Given the description of an element on the screen output the (x, y) to click on. 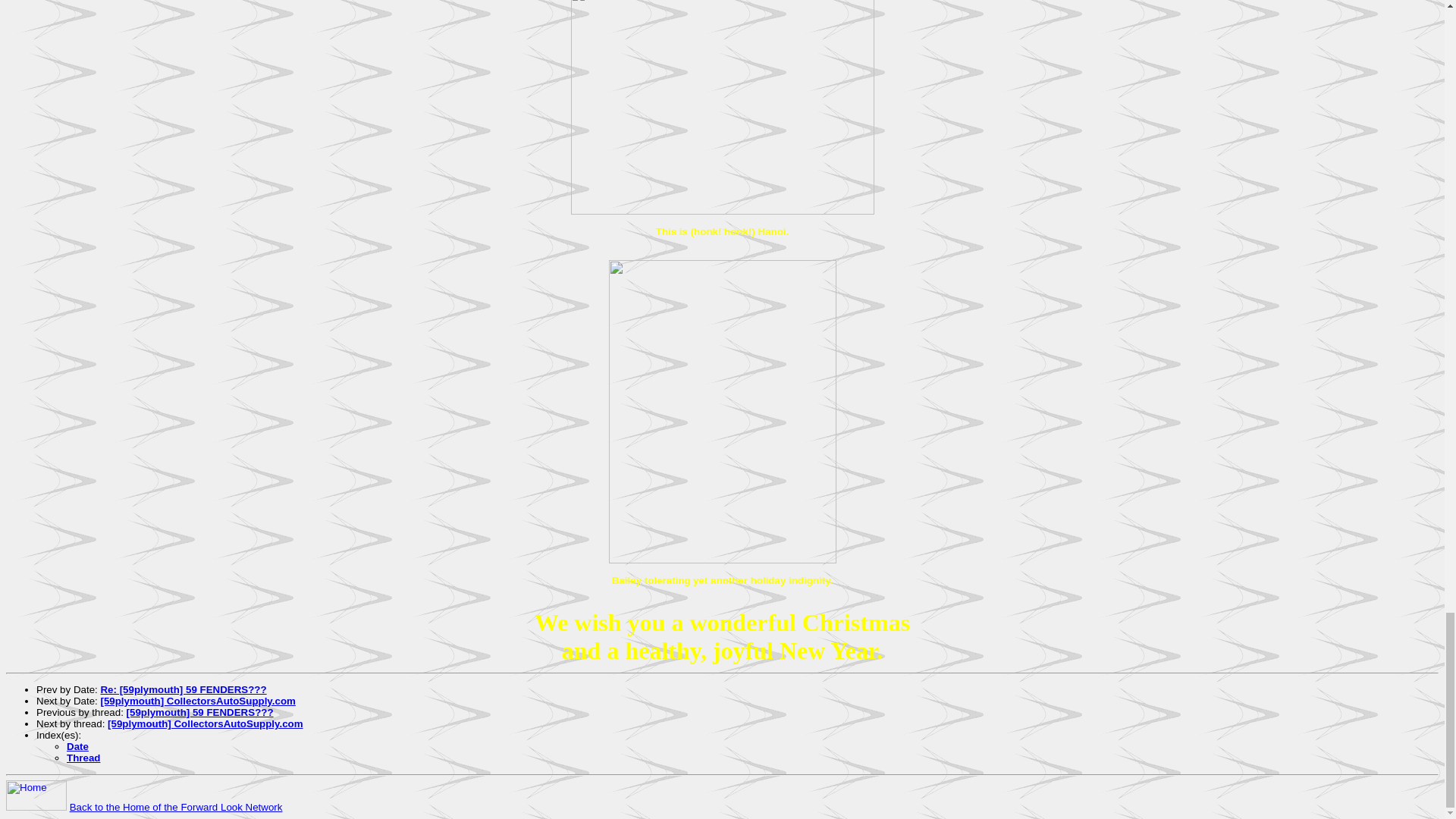
Back to the Home of the Forward Look Network (175, 807)
Date (77, 746)
Thread (83, 757)
